Given the description of an element on the screen output the (x, y) to click on. 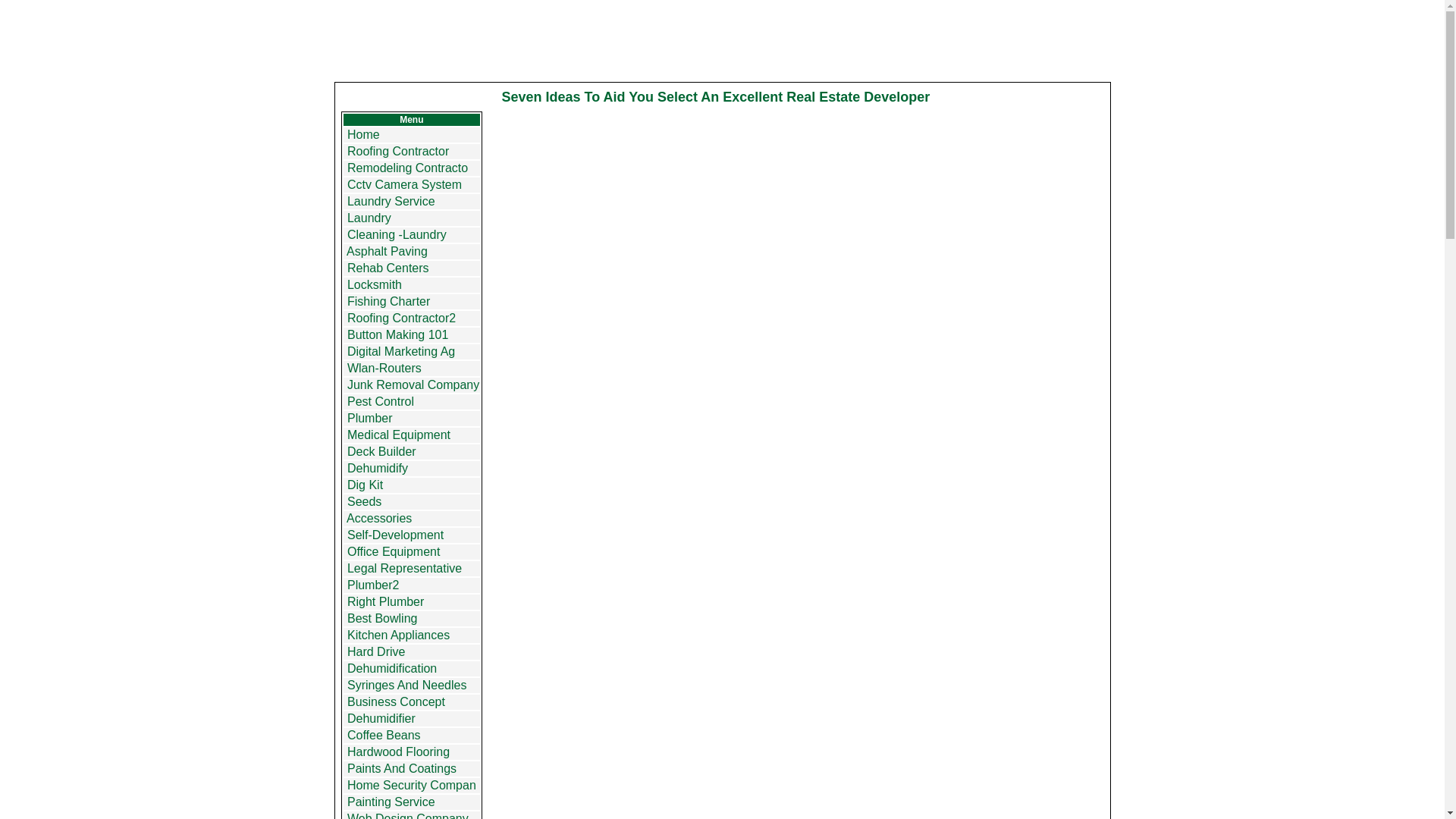
Junk Removal Company (413, 384)
Laundry Service (391, 201)
Office Equipment (393, 551)
Home Security Compan (411, 784)
Cleaning -Laundry (396, 234)
Dehumidify (377, 468)
Plumber2 (372, 584)
Right Plumber (385, 601)
Digital Marketing Ag (400, 350)
Self-Development (395, 534)
